Given the description of an element on the screen output the (x, y) to click on. 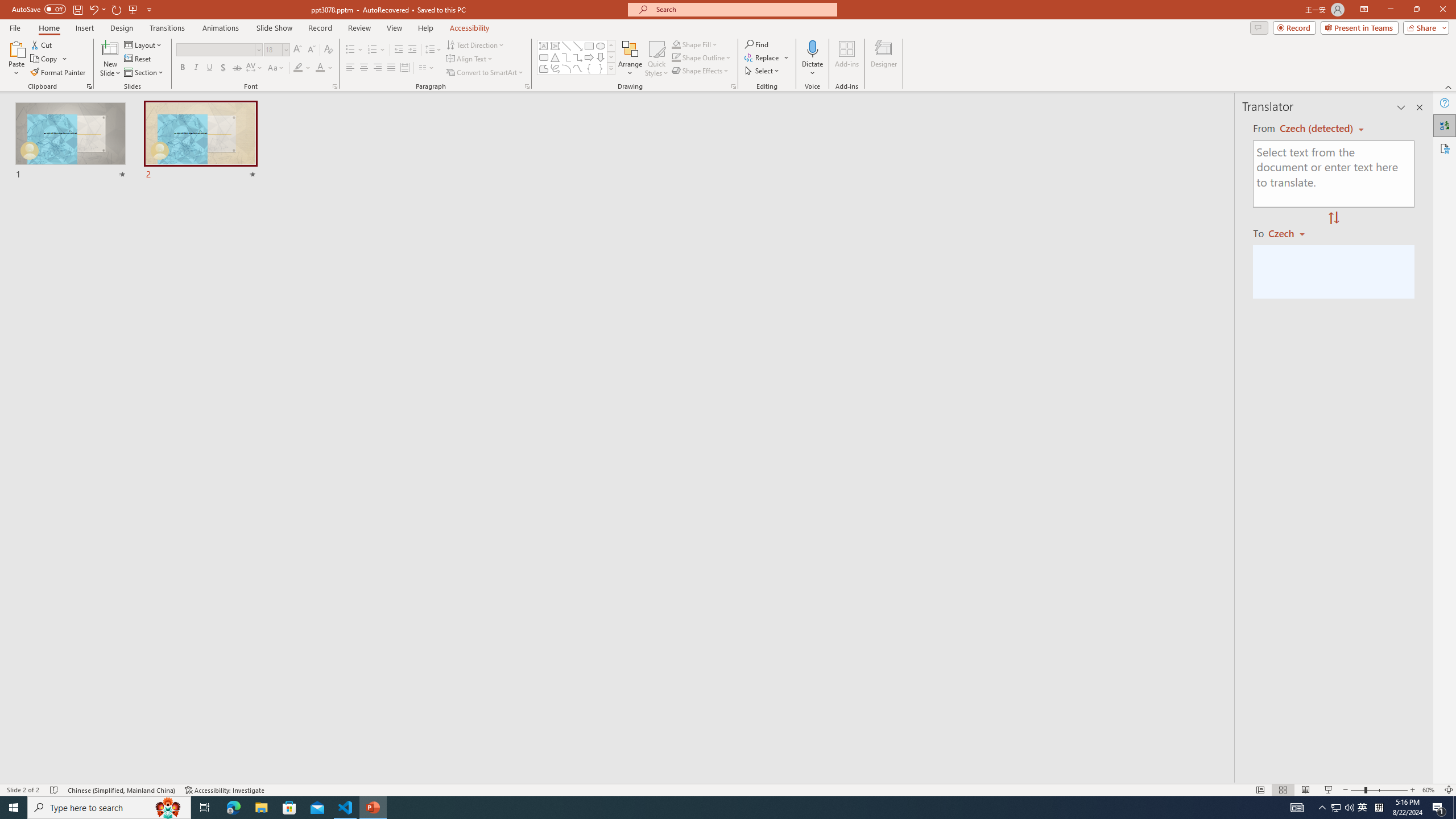
Czech (detected) (1317, 128)
